Given the description of an element on the screen output the (x, y) to click on. 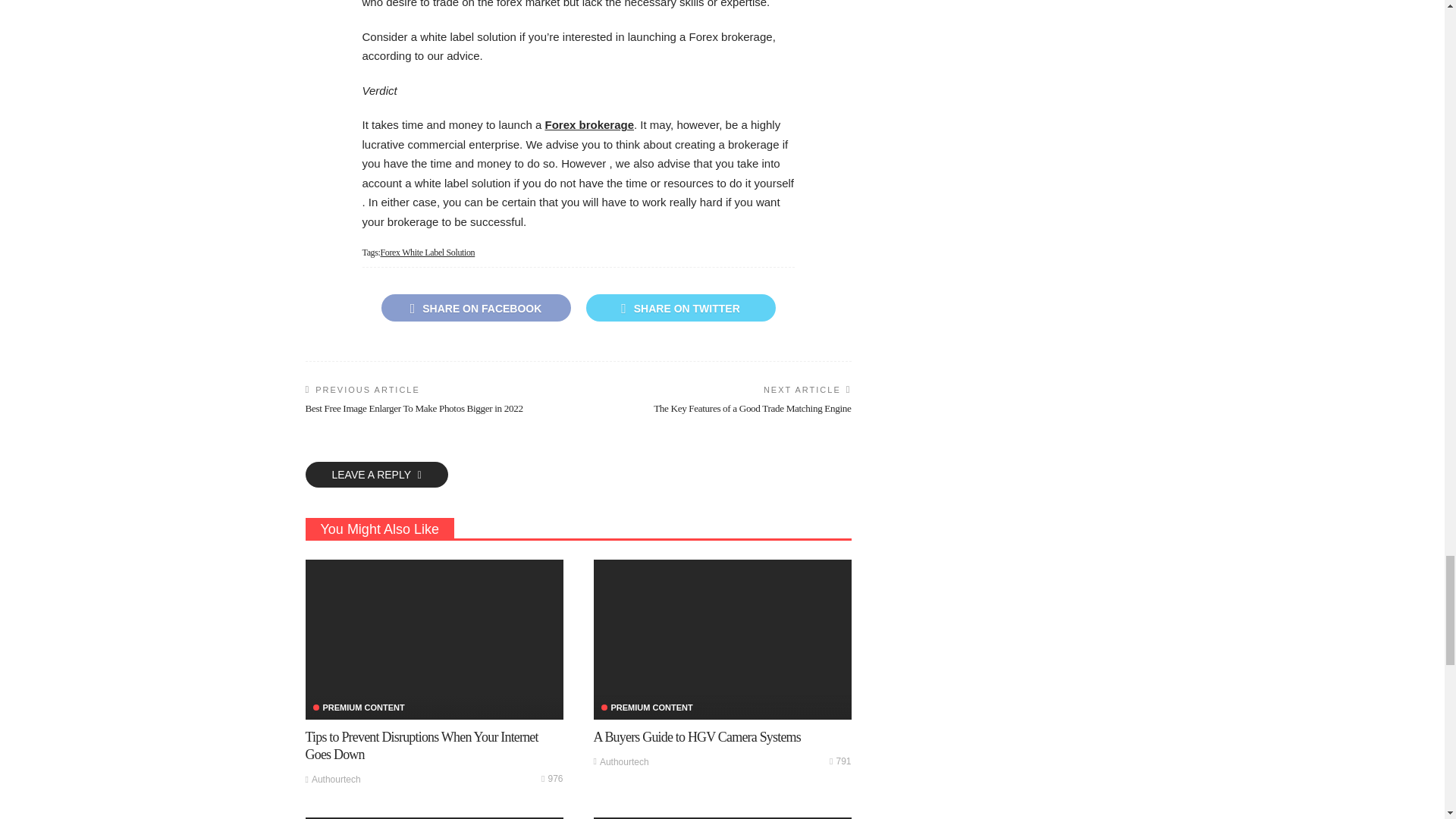
The Key Features of a Good Trade Matching Engine (751, 408)
Tips to Prevent Disruptions When Your Internet Goes Down (551, 778)
Tips to Prevent Disruptions When Your Internet Goes Down (433, 639)
Premium Content (358, 707)
Best Free Image Enlarger To Make Photos Bigger in 2022 (413, 408)
A Buyers Guide to HGV Camera Systems (721, 639)
Forex White Label Solution (428, 252)
A Buyers Guide to HGV Camera Systems (695, 736)
Premium Content (646, 707)
Tips to Prevent Disruptions When Your Internet Goes Down (420, 745)
